Given the description of an element on the screen output the (x, y) to click on. 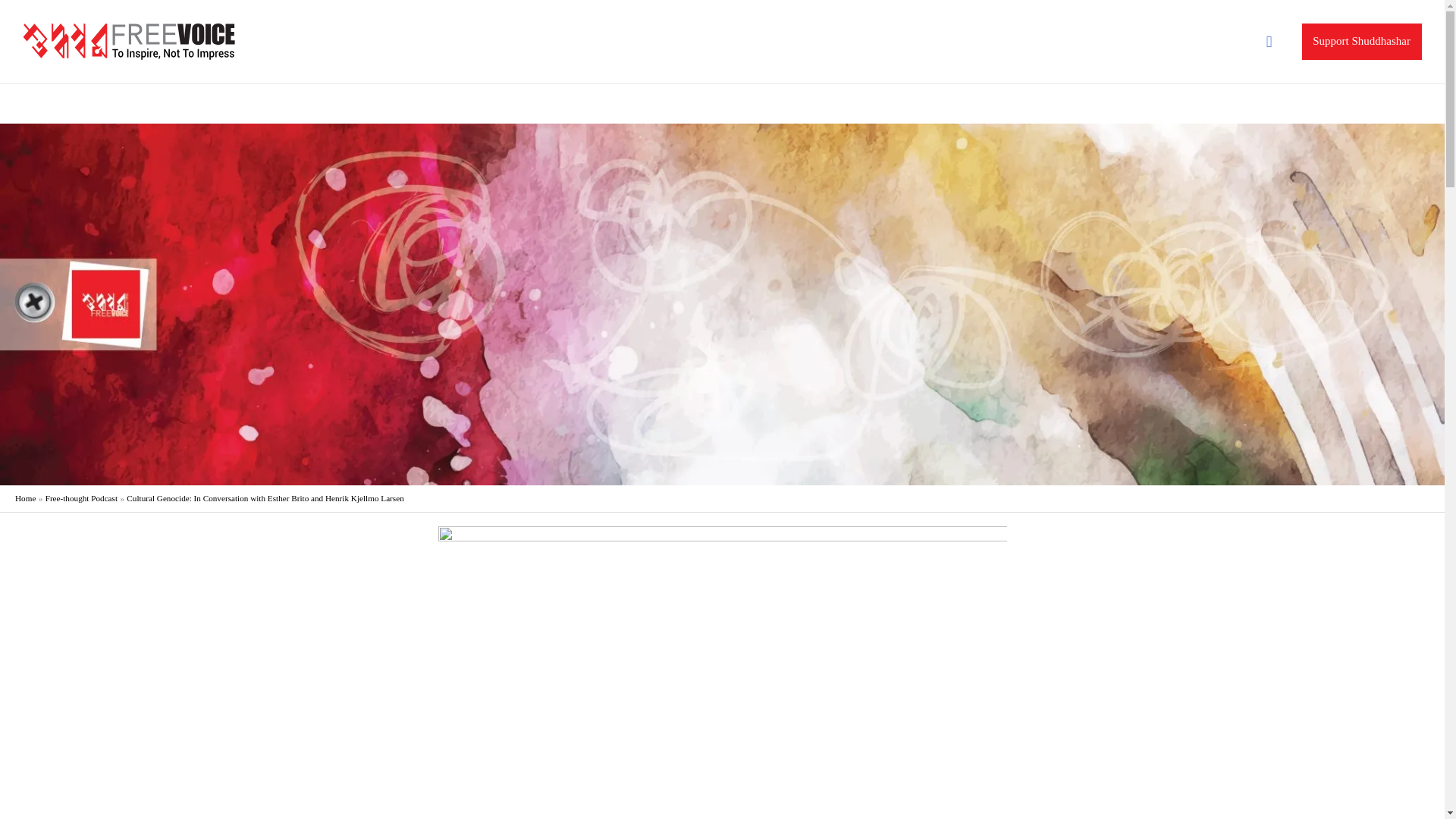
Submissions (1355, 103)
About (1199, 103)
Events (1247, 103)
Support Shuddhashar (1361, 41)
Home (1153, 103)
Home (24, 497)
Free-thought Podcast (81, 497)
Books (1295, 103)
